Given the description of an element on the screen output the (x, y) to click on. 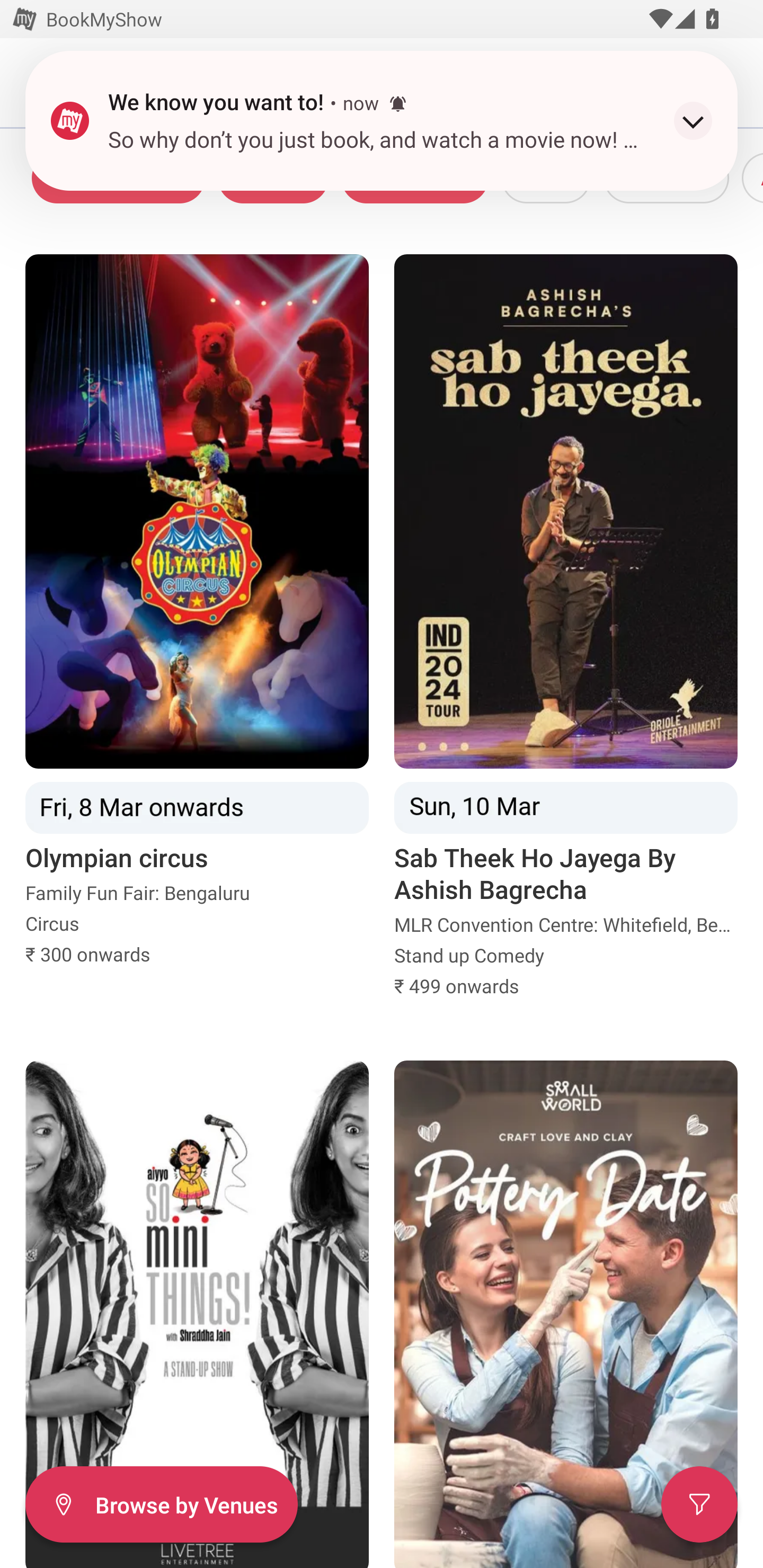
Filter Browse by Venues (161, 1504)
Filter (699, 1504)
